Given the description of an element on the screen output the (x, y) to click on. 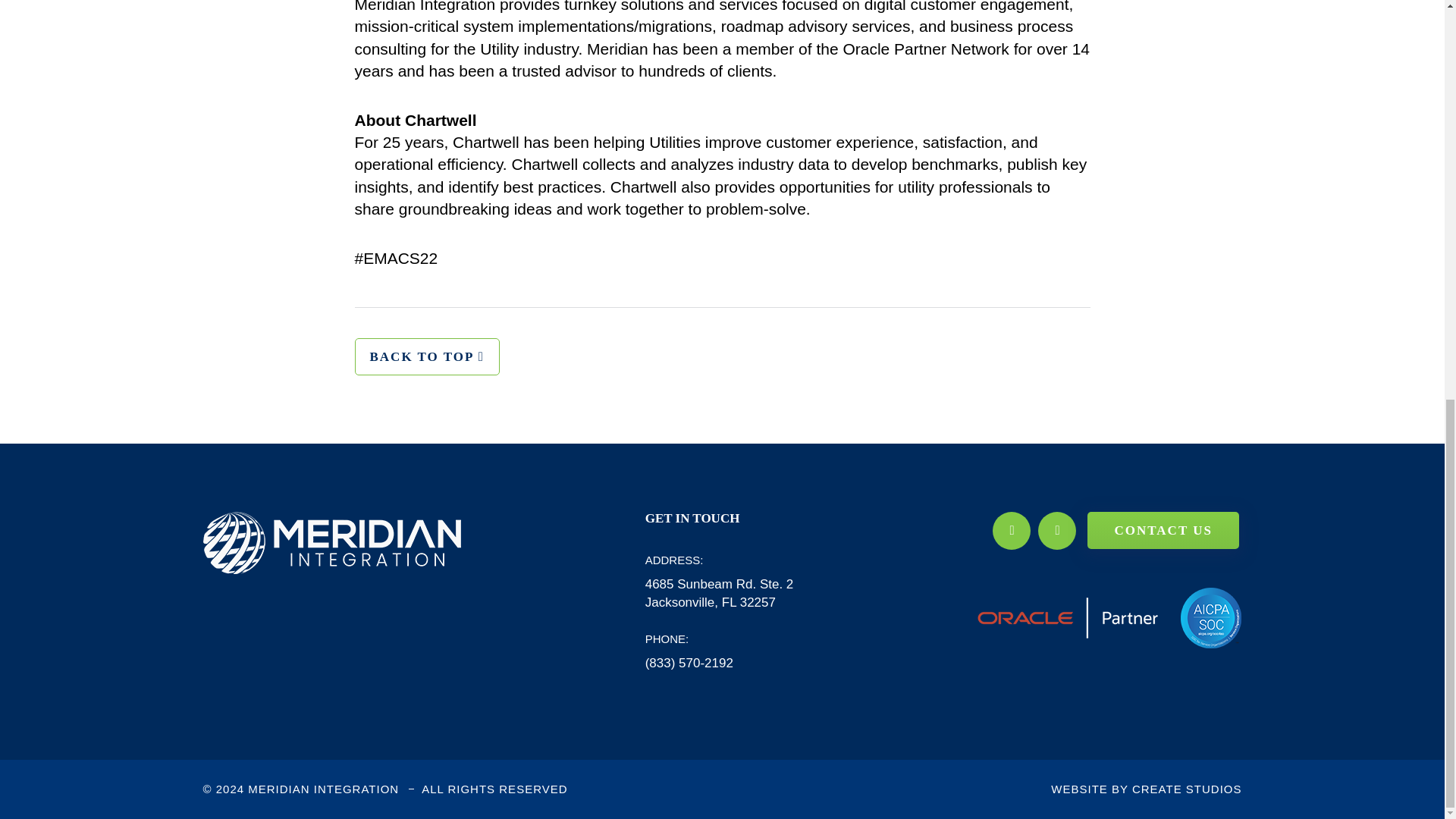
WEBSITE BY CREATE STUDIOS (1146, 788)
logo-oracle-orange-aicpa (1108, 618)
Meridian Integration (332, 542)
CONTACT US (1163, 529)
BACK TO TOP (427, 356)
LinkedIn (1056, 530)
Twitter (1011, 530)
